Given the description of an element on the screen output the (x, y) to click on. 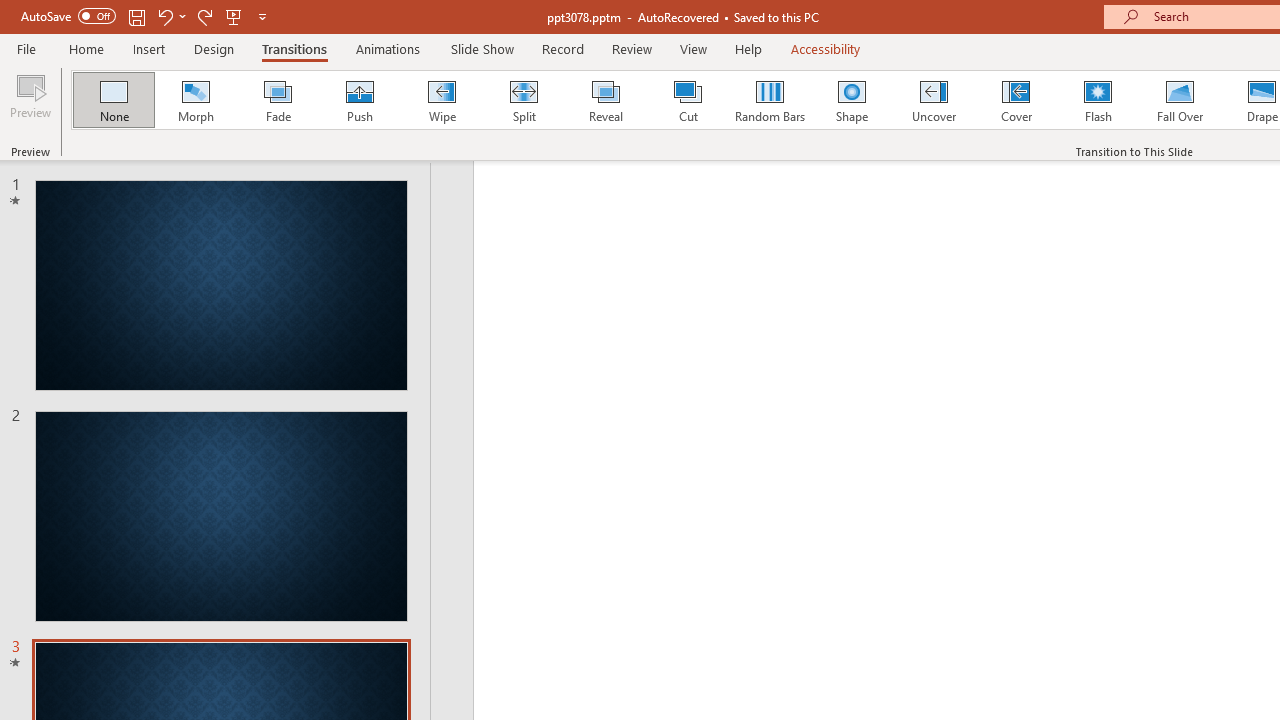
Morph (195, 100)
Split (523, 100)
Fade (277, 100)
Flash (1098, 100)
Push (359, 100)
